Given the description of an element on the screen output the (x, y) to click on. 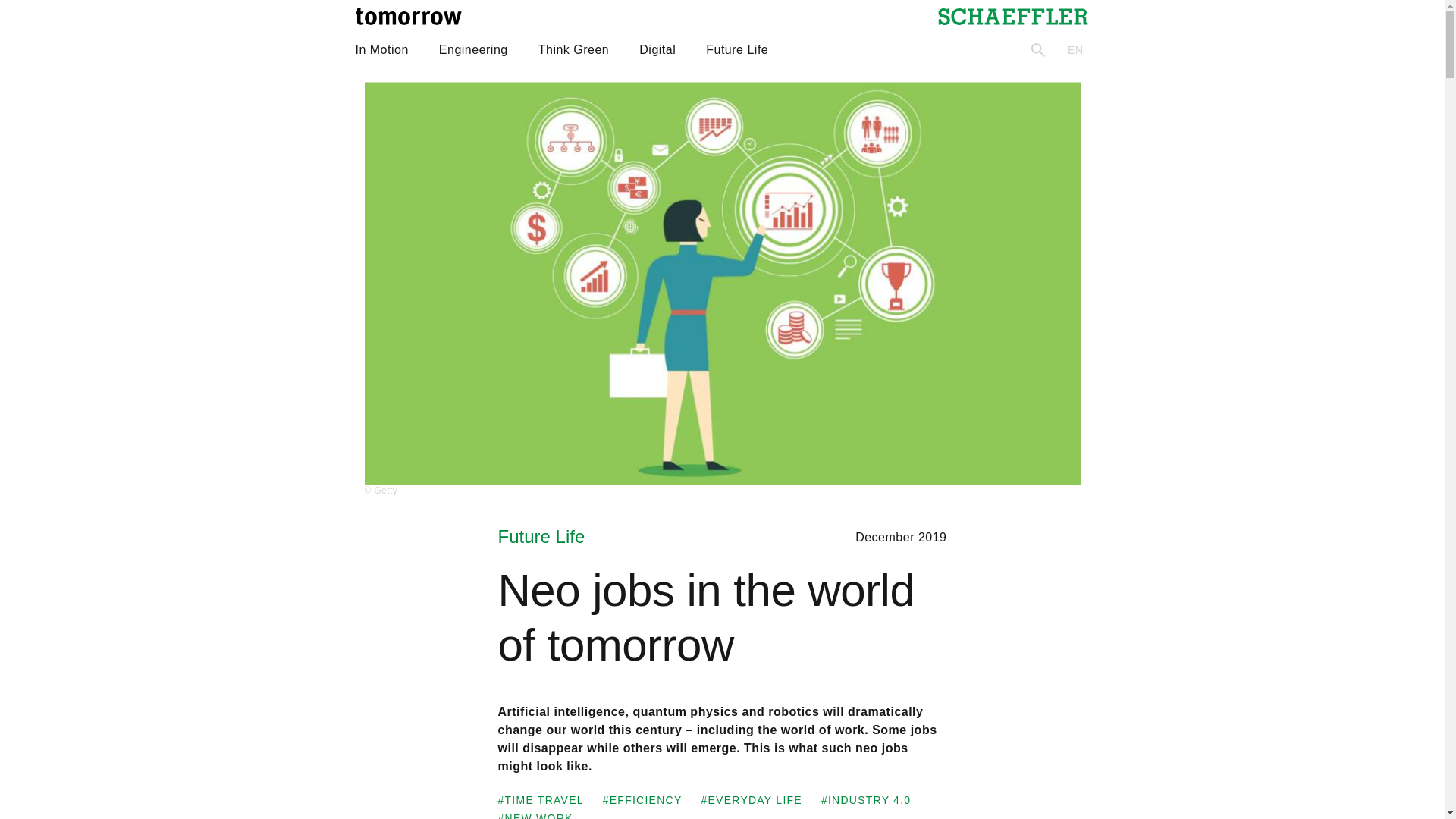
tomorrow (408, 16)
In Motion (381, 49)
